Given the description of an element on the screen output the (x, y) to click on. 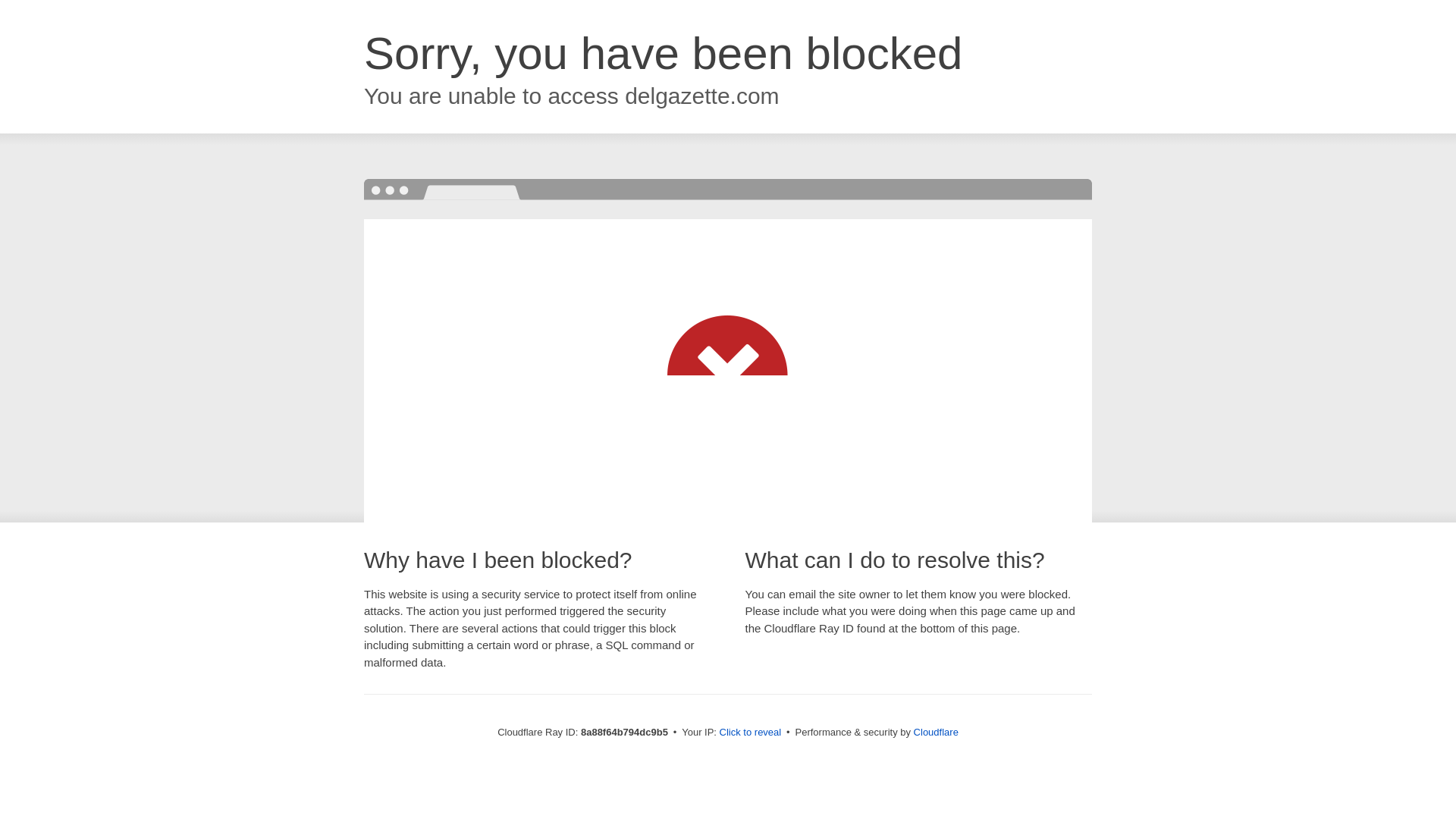
Click to reveal (750, 732)
Cloudflare (936, 731)
